Given the description of an element on the screen output the (x, y) to click on. 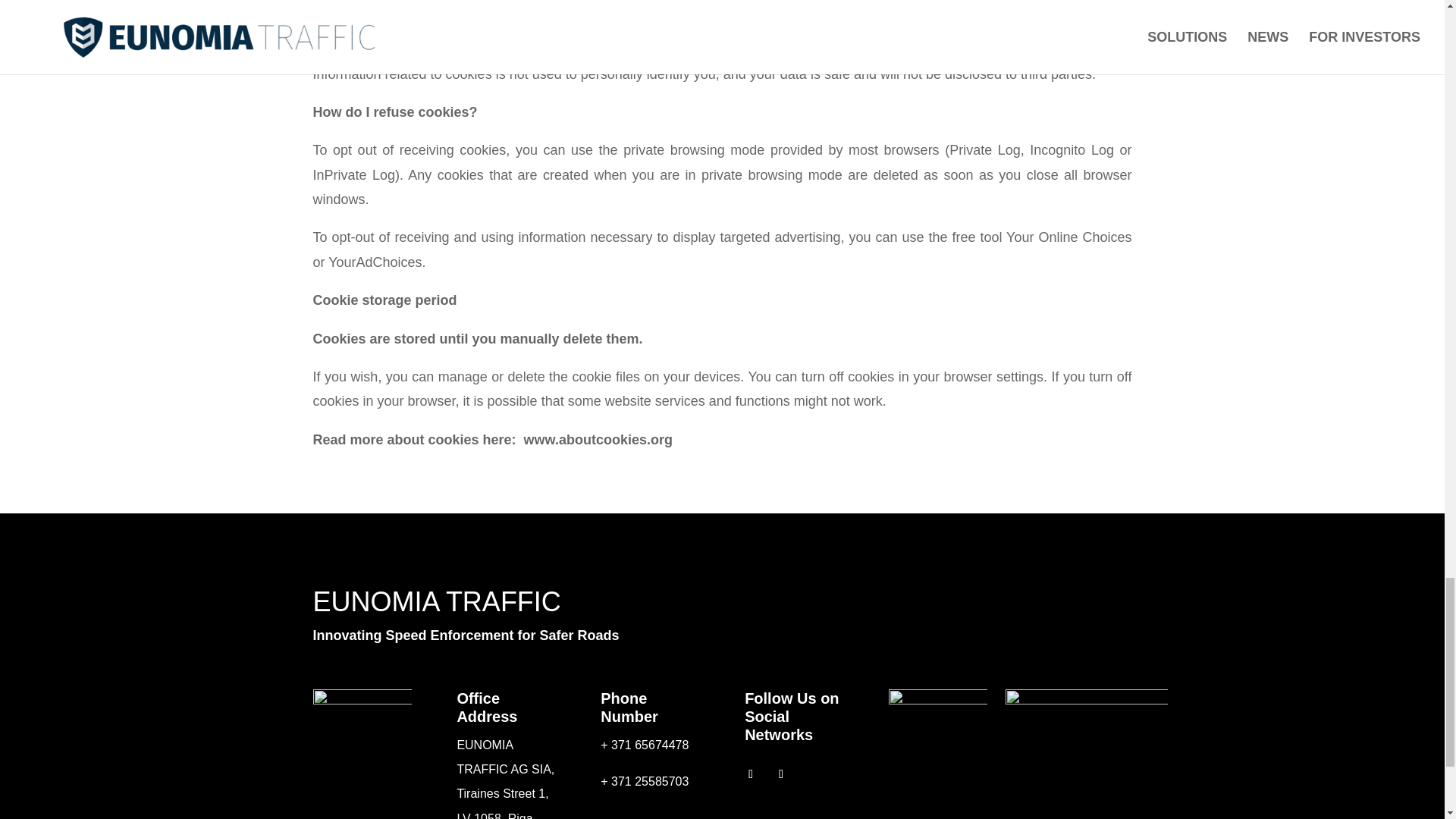
ISO9001-modified (937, 720)
Follow on LinkedIn (750, 774)
Follow on Youtube (780, 774)
